Given the description of an element on the screen output the (x, y) to click on. 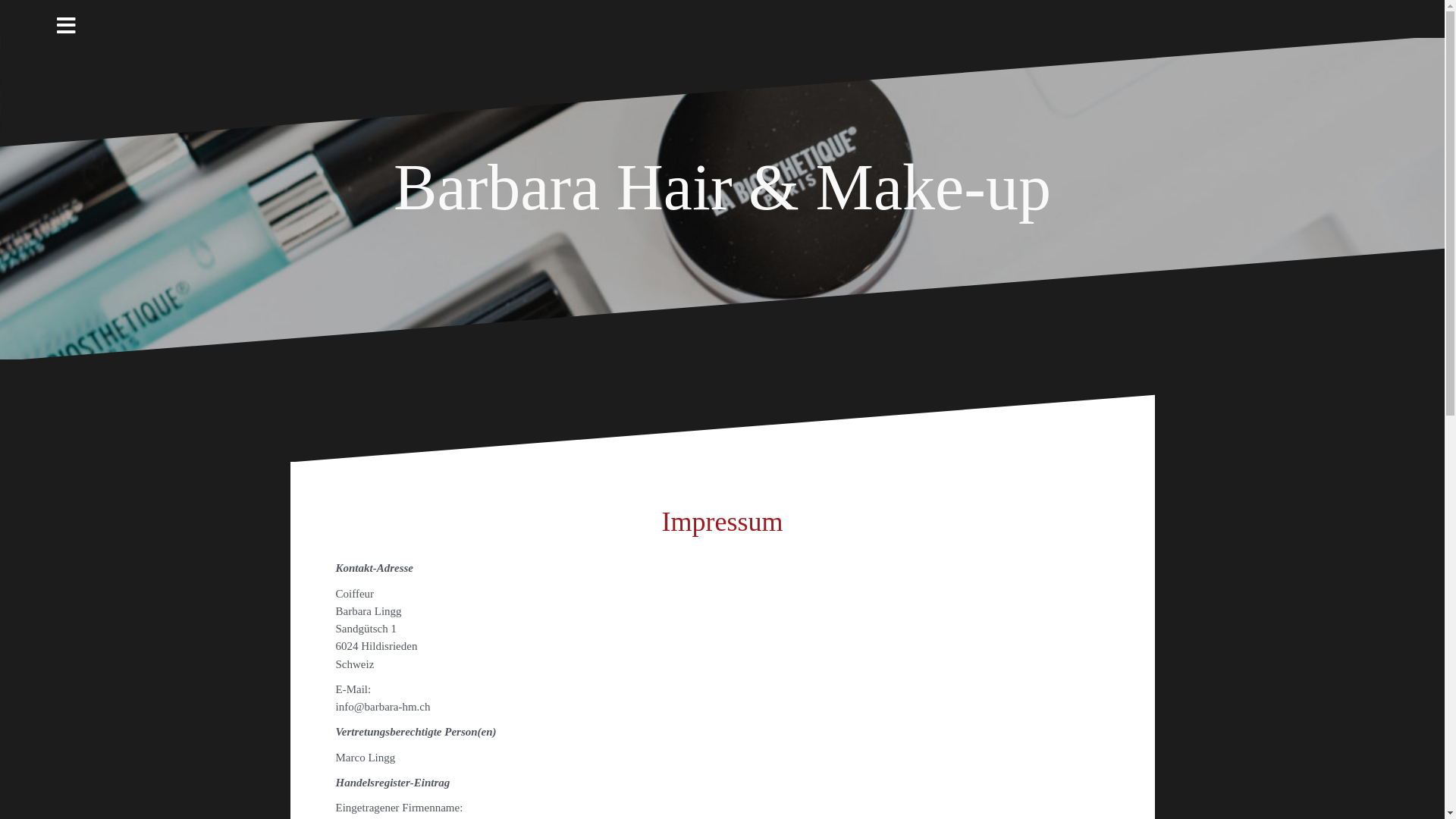
News & Events Element type: text (1082, 14)
Willkommen bei Barbara Hair & Make-up Element type: text (1064, 14)
Barbara Hair & Make-up Element type: text (722, 186)
Kontakt & Termin Element type: text (1136, 14)
Suche Element type: text (25, 20)
Produkte Shop Element type: text (1118, 14)
